Given the description of an element on the screen output the (x, y) to click on. 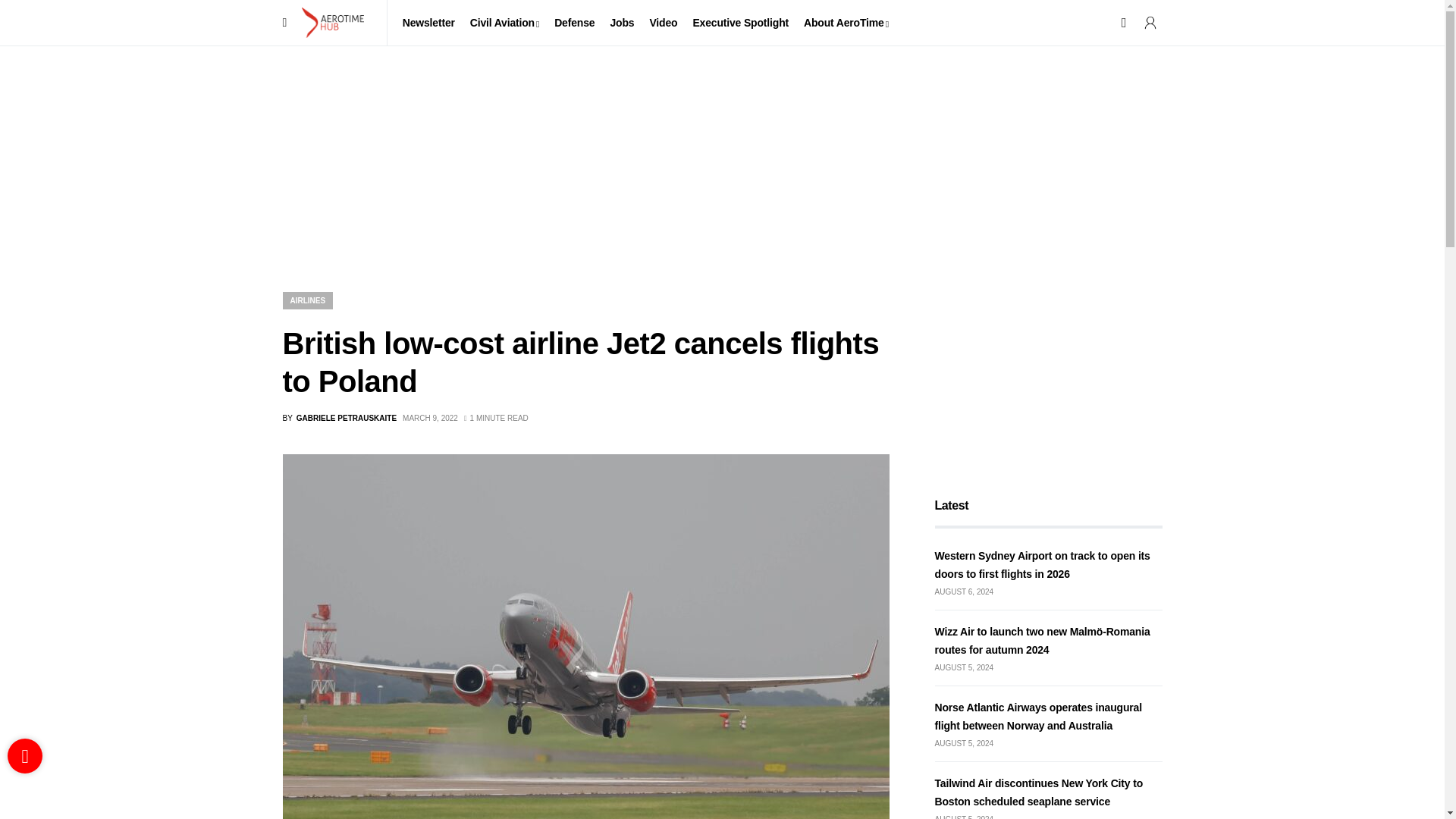
Newsletter (428, 22)
Civil Aviation (504, 22)
View all posts by Gabriele Petrauskaite (339, 418)
Defense (574, 22)
